Given the description of an element on the screen output the (x, y) to click on. 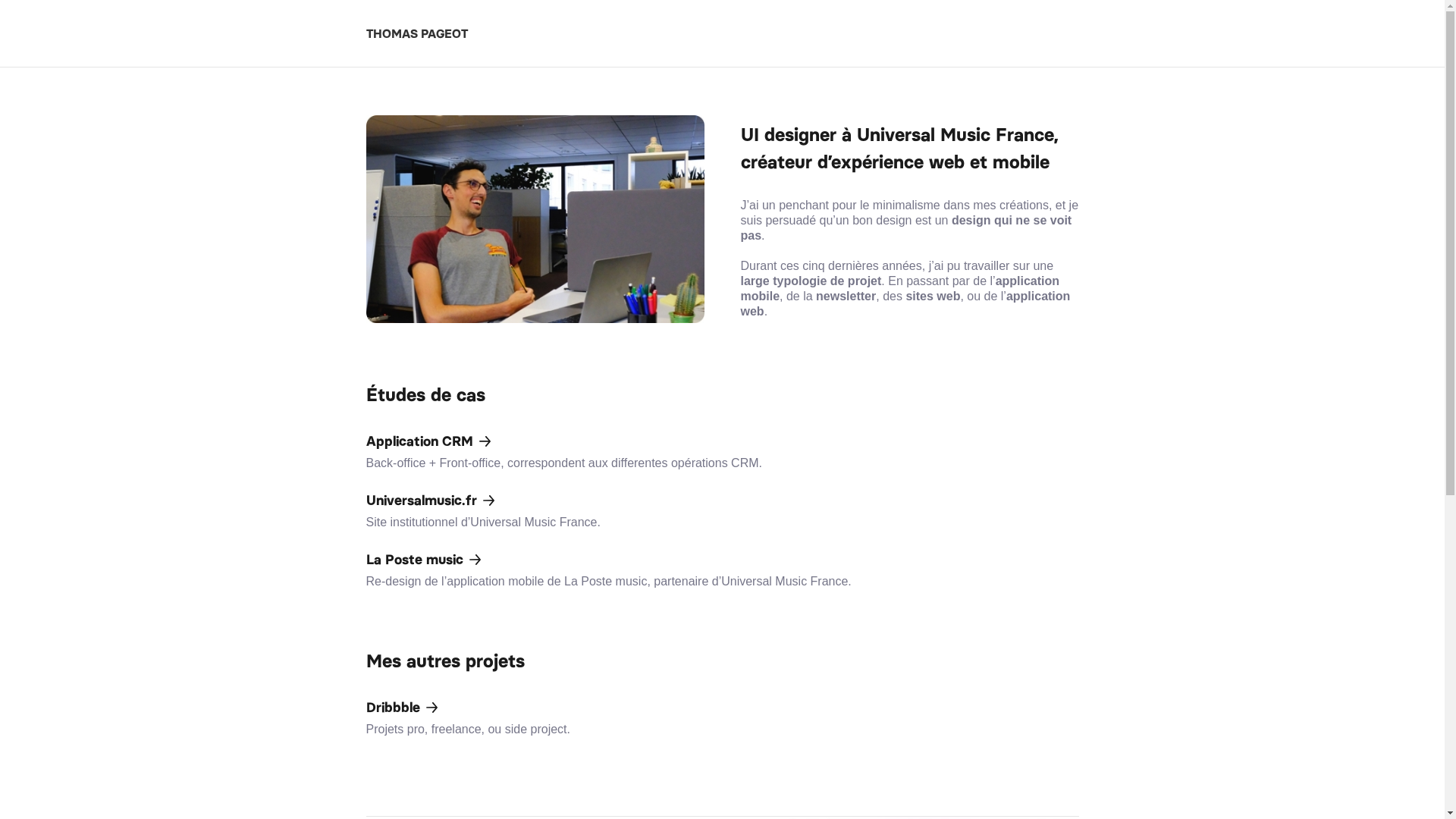
newsletter Element type: text (845, 295)
Dribbble
Projets pro, freelance, ou side project. Element type: text (721, 716)
sites web Element type: text (932, 295)
application web Element type: text (905, 303)
application mobile Element type: text (899, 288)
